Given the description of an element on the screen output the (x, y) to click on. 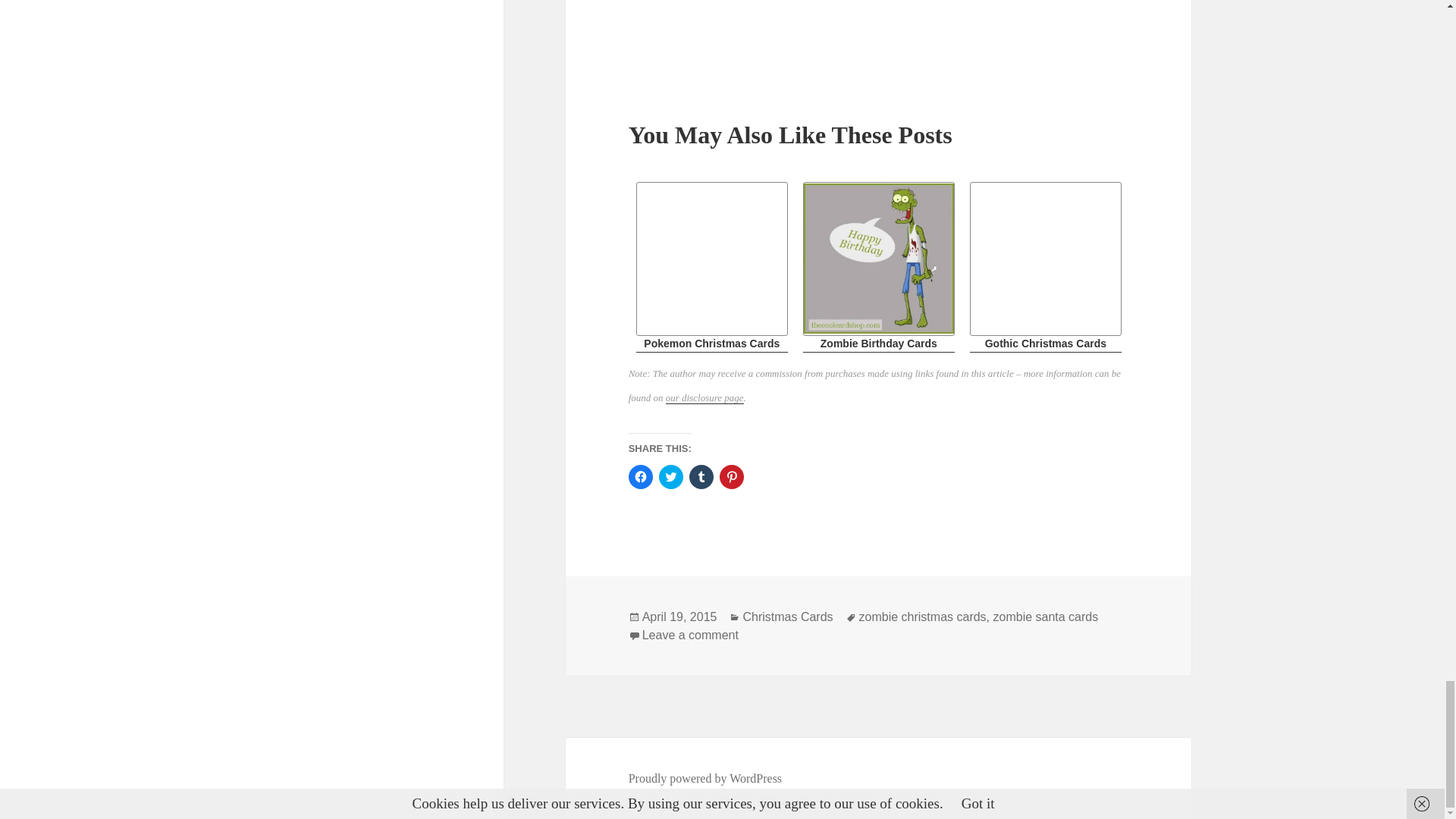
our disclosure page (704, 398)
 Pokemon Christmas Cards (711, 266)
Pokemon Christmas Cards (711, 266)
